Given the description of an element on the screen output the (x, y) to click on. 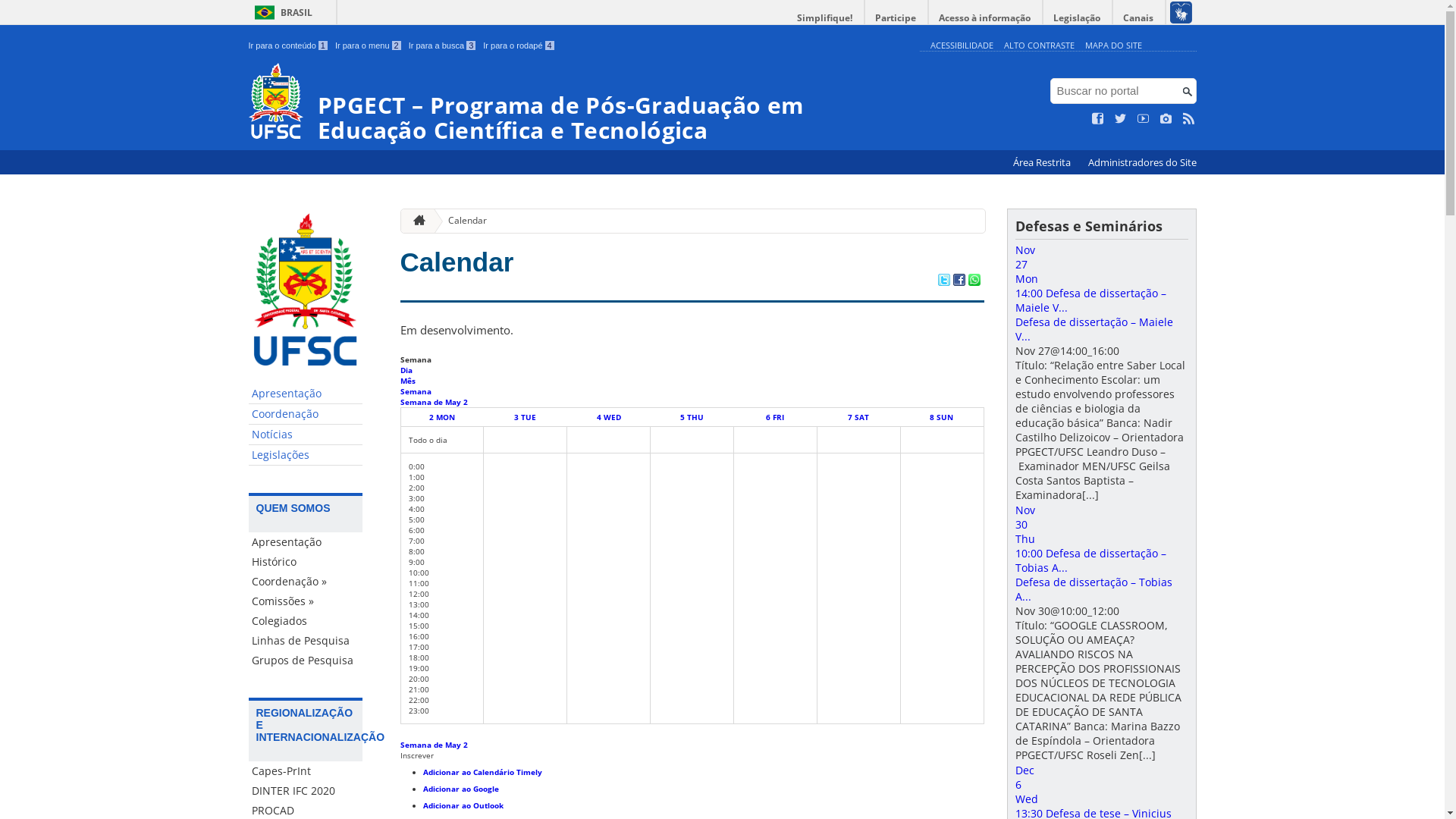
Ir para o menu 2 Element type: text (368, 45)
Adicionar ao Google Element type: text (460, 788)
3 TUE Element type: text (525, 416)
ALTO CONTRASTE Element type: text (1039, 44)
Veja no Instagram Element type: hover (1166, 118)
Adicionar ao Outlook Element type: text (463, 805)
Compartilhar no WhatsApp Element type: hover (973, 280)
Compartilhar no Twitter Element type: hover (943, 280)
Curta no Facebook Element type: hover (1098, 118)
ACESSIBILIDADE Element type: text (960, 44)
Dia Element type: text (406, 369)
8 SUN Element type: text (941, 416)
Linhas de Pesquisa Element type: text (305, 640)
Colegiados Element type: text (305, 620)
Capes-PrInt Element type: text (305, 771)
Nov
27
Mon Element type: text (1100, 263)
Semana de May 2 Element type: text (433, 744)
7 SAT Element type: text (858, 416)
Calendar Element type: text (457, 261)
6 FRI Element type: text (774, 416)
Siga no Twitter Element type: hover (1120, 118)
Canais Element type: text (1138, 18)
Simplifique! Element type: text (825, 18)
MAPA DO SITE Element type: text (1112, 44)
Ir para a busca 3 Element type: text (442, 45)
Compartilhar no Facebook Element type: hover (958, 280)
Semana Element type: text (415, 390)
Semana Element type: text (415, 359)
Dec
6
Wed Element type: text (1100, 784)
Nov
30
Thu Element type: text (1100, 524)
5 THU Element type: text (691, 416)
Calendar Element type: text (460, 220)
2 MON Element type: text (442, 416)
4 WED Element type: text (608, 416)
BRASIL Element type: text (280, 12)
Semana de May 2 Element type: text (433, 401)
Grupos de Pesquisa Element type: text (305, 660)
Administradores do Site Element type: text (1141, 162)
Participe Element type: text (895, 18)
DINTER IFC 2020 Element type: text (305, 790)
